Given the description of an element on the screen output the (x, y) to click on. 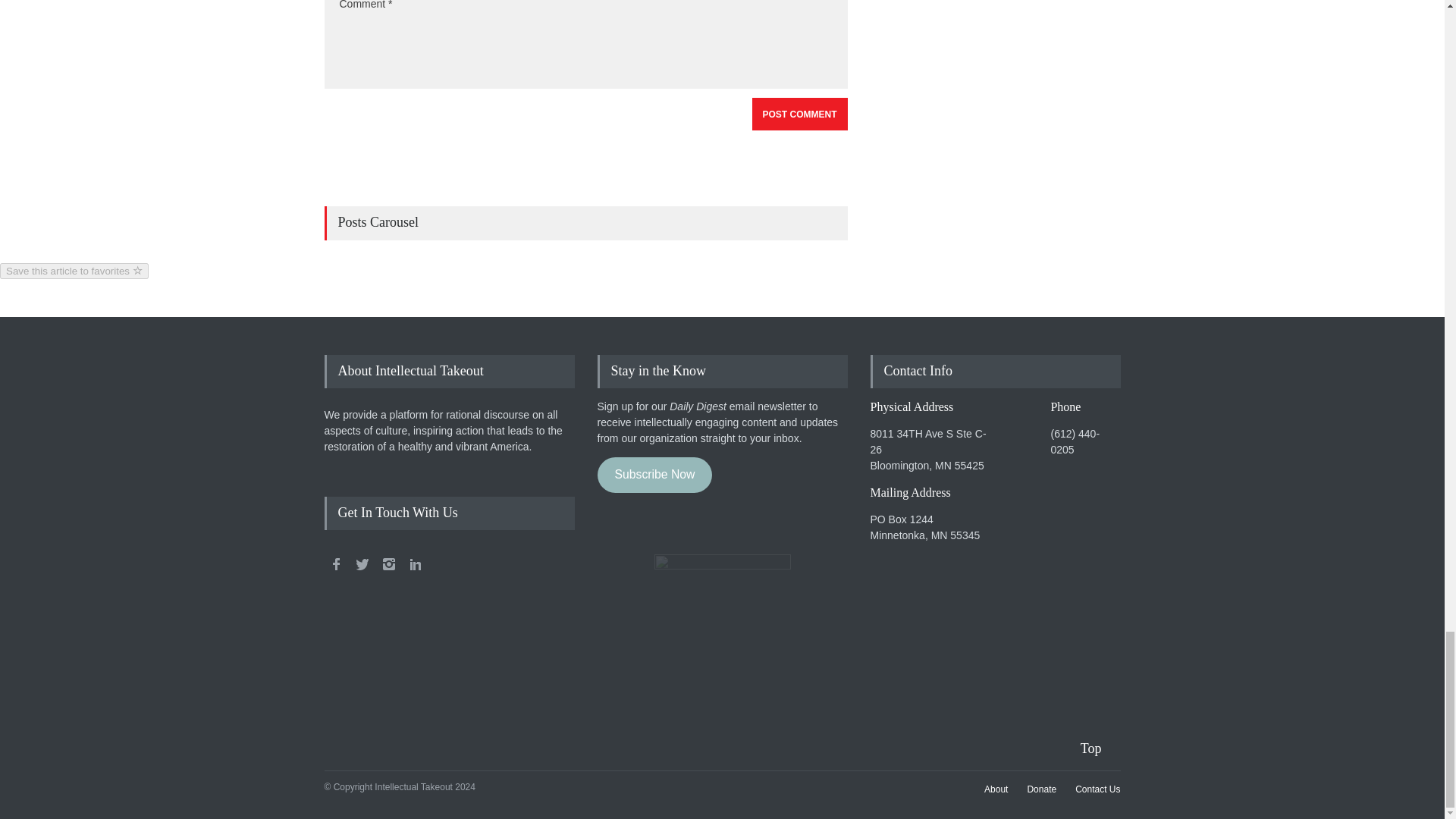
POST COMMENT (799, 113)
Top (1100, 748)
